Given the description of an element on the screen output the (x, y) to click on. 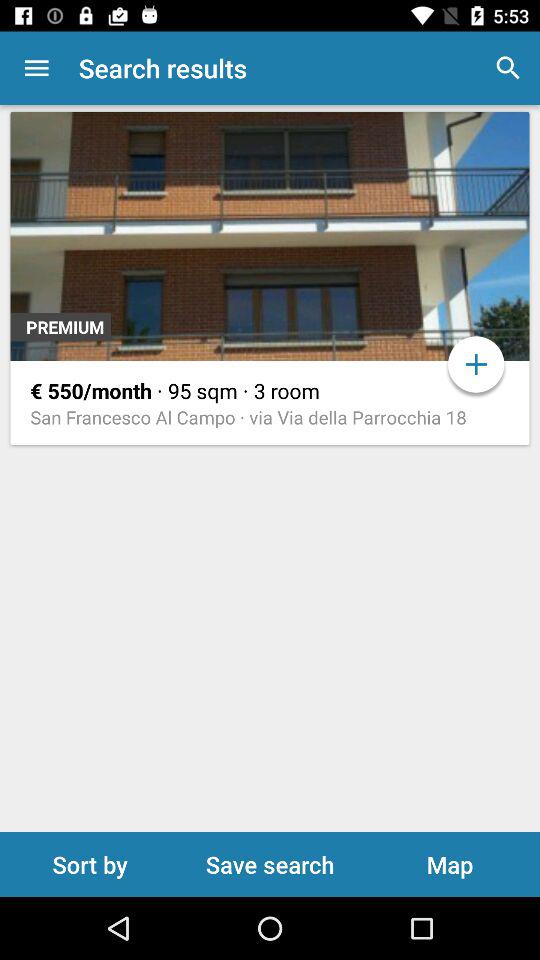
tap the item next to the search results item (36, 68)
